Given the description of an element on the screen output the (x, y) to click on. 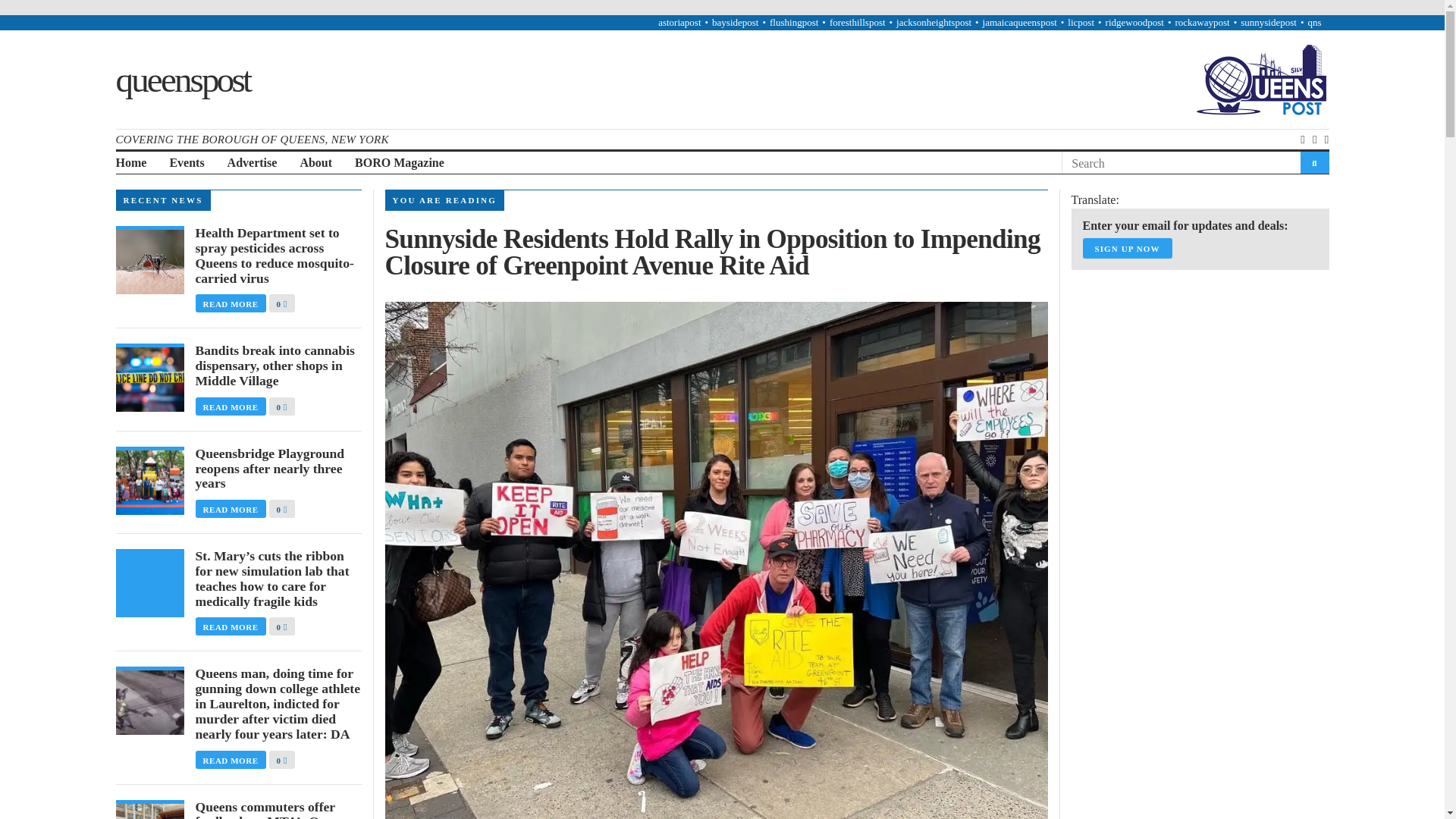
BORO Magazine (399, 163)
jamaicaqueenspost (1019, 21)
flushingpost (794, 21)
baysidepost (734, 21)
rockawaypost (1201, 21)
ridgewoodpost (1134, 21)
licpost (1080, 21)
astoriapost (679, 21)
qns (1313, 21)
sunnysidepost (1268, 21)
foresthillspost (857, 21)
jacksonheightspost (933, 21)
About (315, 163)
queenspost (181, 78)
Advertise (252, 163)
